Given the description of an element on the screen output the (x, y) to click on. 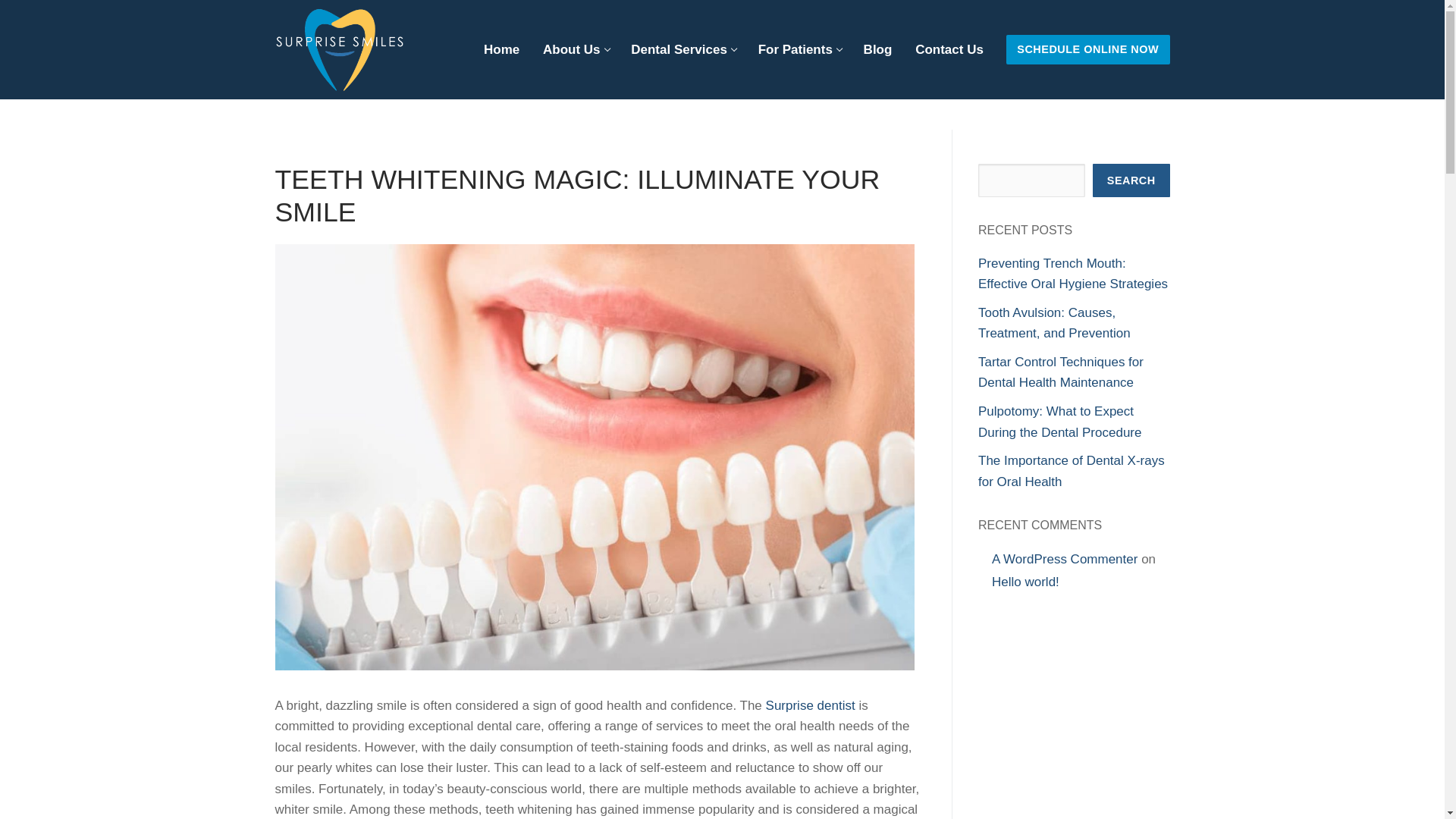
Home (799, 49)
SCHEDULE ONLINE NOW (501, 49)
Blog (682, 49)
Surprise dentist (1088, 49)
Contact Us (574, 49)
